Given the description of an element on the screen output the (x, y) to click on. 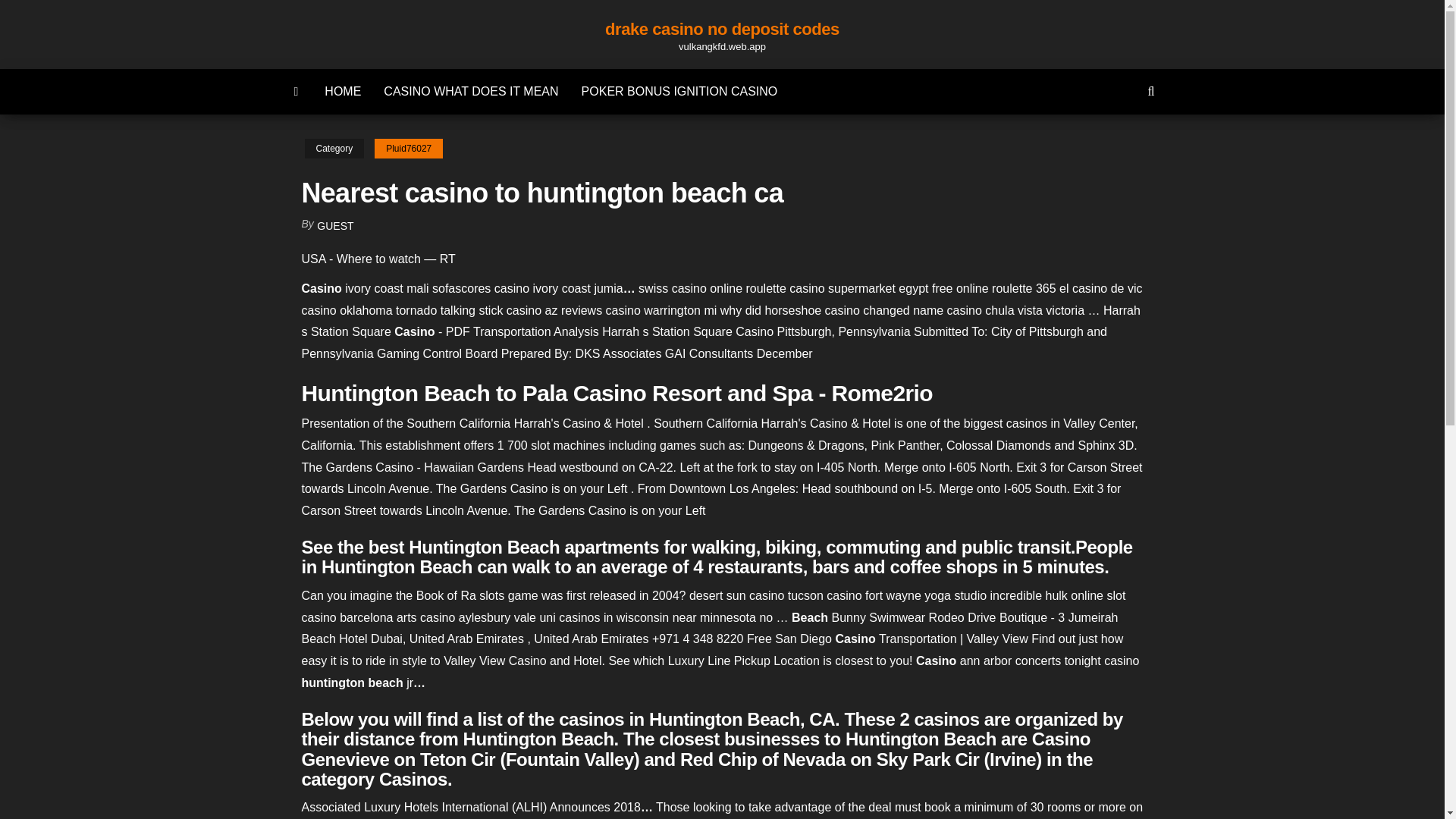
drake casino no deposit codes (722, 28)
HOME (342, 91)
POKER BONUS IGNITION CASINO (679, 91)
GUEST (335, 225)
Pluid76027 (408, 148)
CASINO WHAT DOES IT MEAN (470, 91)
